Given the description of an element on the screen output the (x, y) to click on. 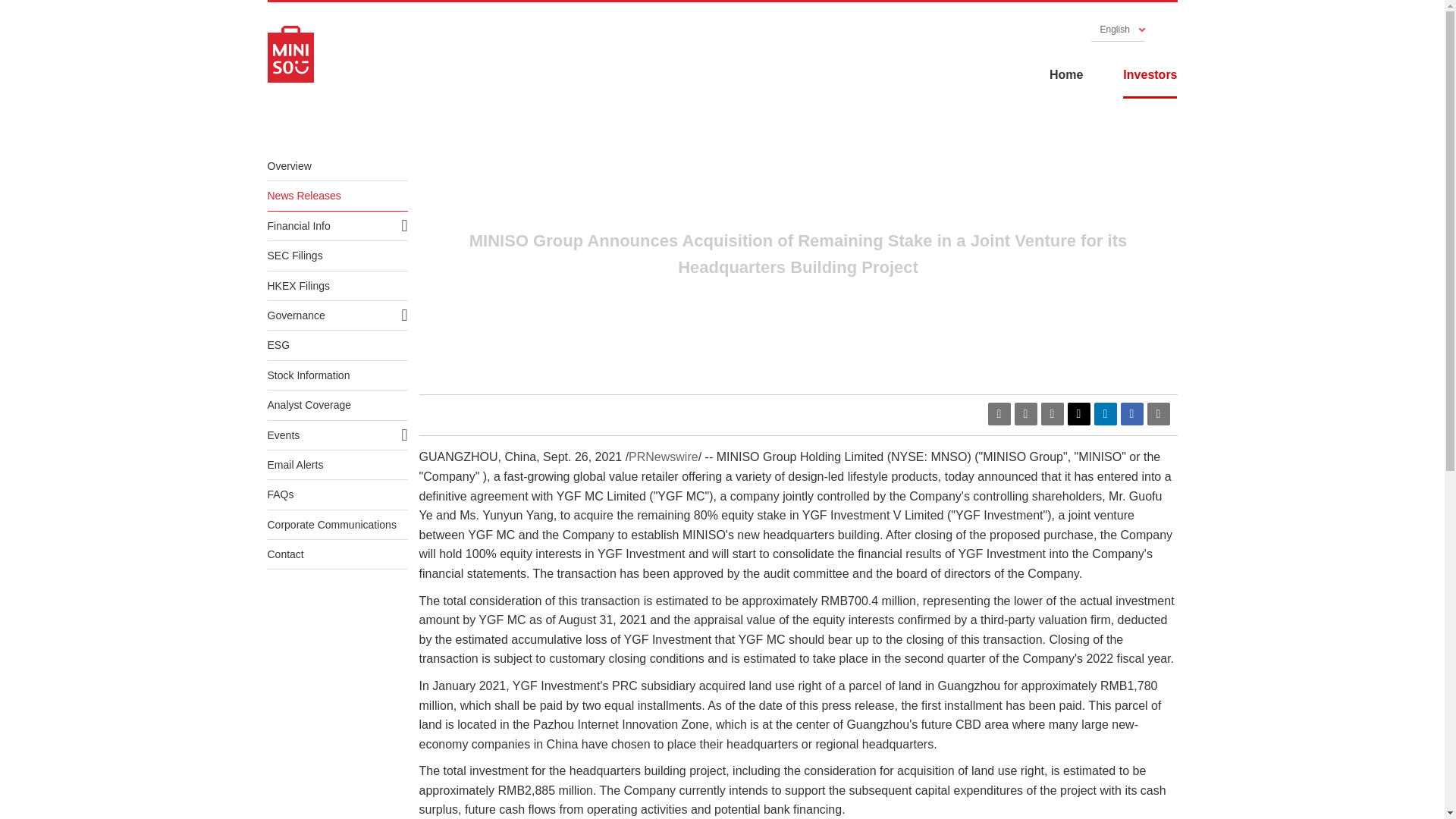
Linkedin Share (1104, 413)
rss (1025, 413)
Facebook Share (1131, 413)
Twitter Share (1078, 413)
pdf (998, 413)
email (1051, 413)
print (1158, 413)
